Given the description of an element on the screen output the (x, y) to click on. 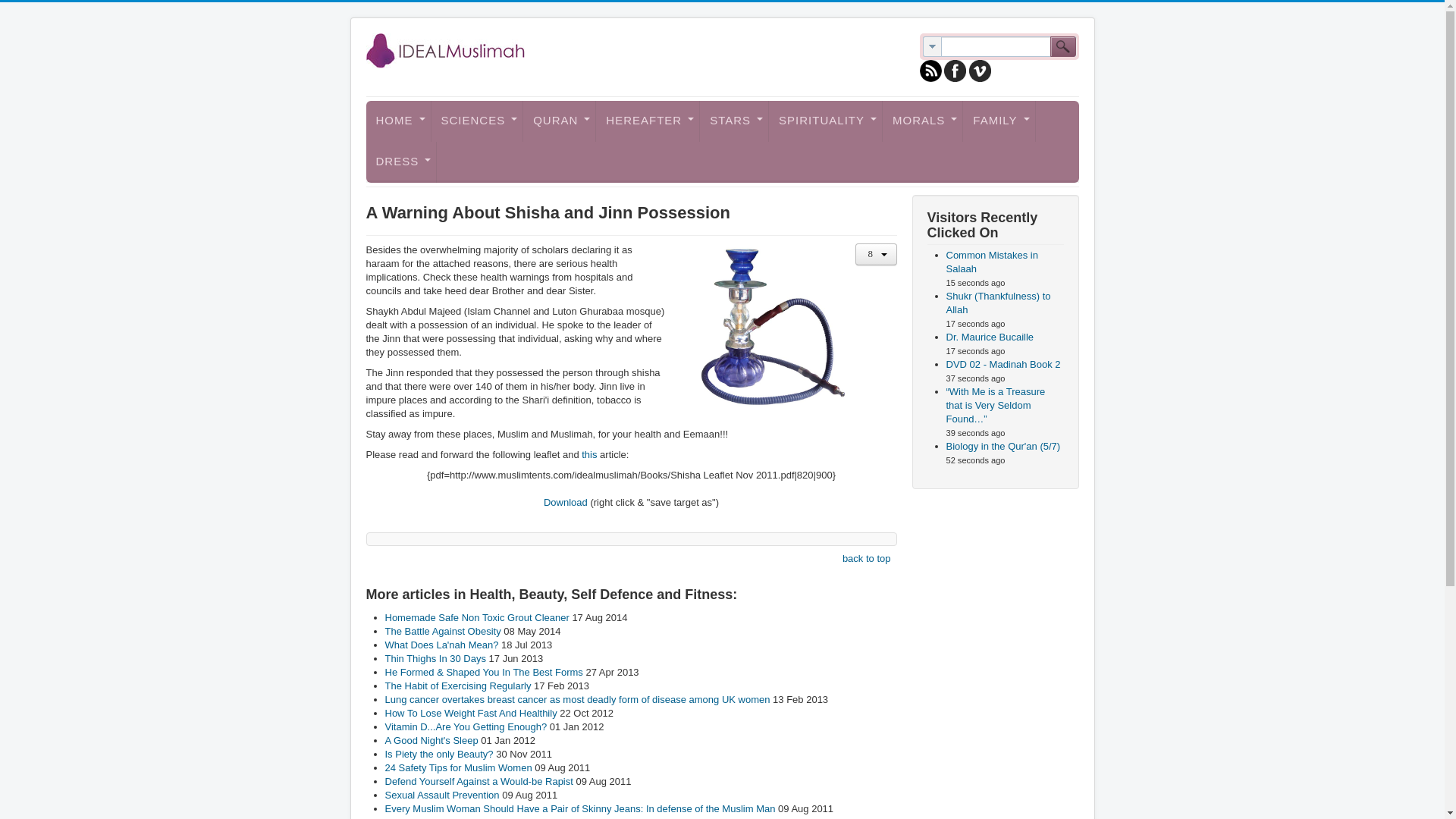
SCIENCES (476, 120)
HEREAFTER (647, 120)
SPIRITUALITY (825, 120)
STARS (734, 120)
QURAN (558, 120)
HOME (397, 120)
